Given the description of an element on the screen output the (x, y) to click on. 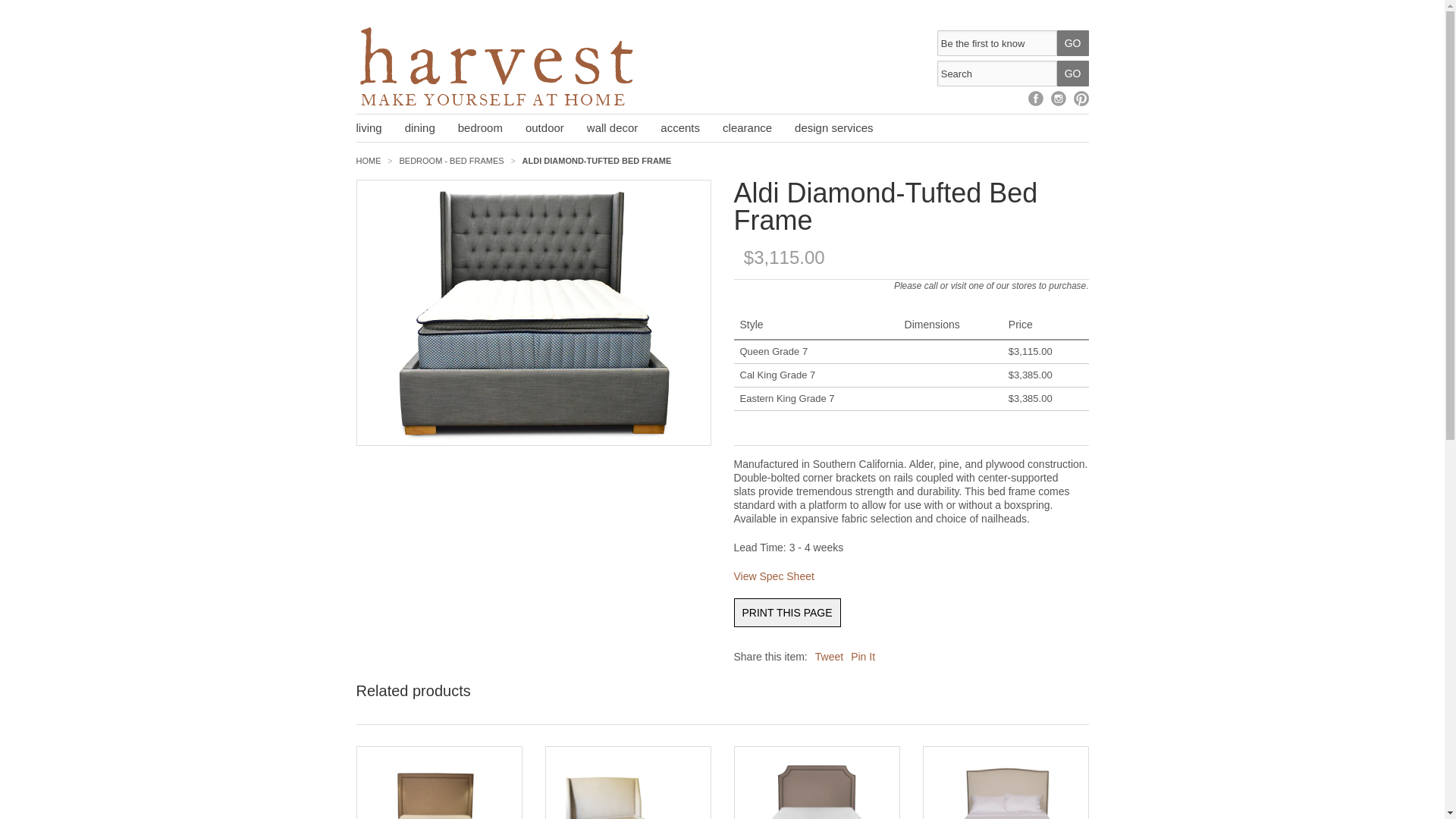
BEDROOM - BED FRAMES (450, 160)
harvest on Instagram (1058, 98)
living (380, 127)
harvest (498, 64)
GO (1073, 73)
PRINT THIS PAGE (787, 612)
View Spec Sheet (773, 576)
harvest on Pinterest (1081, 98)
Bedroom - Bed Frames (450, 160)
GO (1073, 43)
GO (1073, 73)
wall decor (623, 127)
Tweet (829, 656)
harvest on Facebook (1035, 98)
design services (844, 127)
